Given the description of an element on the screen output the (x, y) to click on. 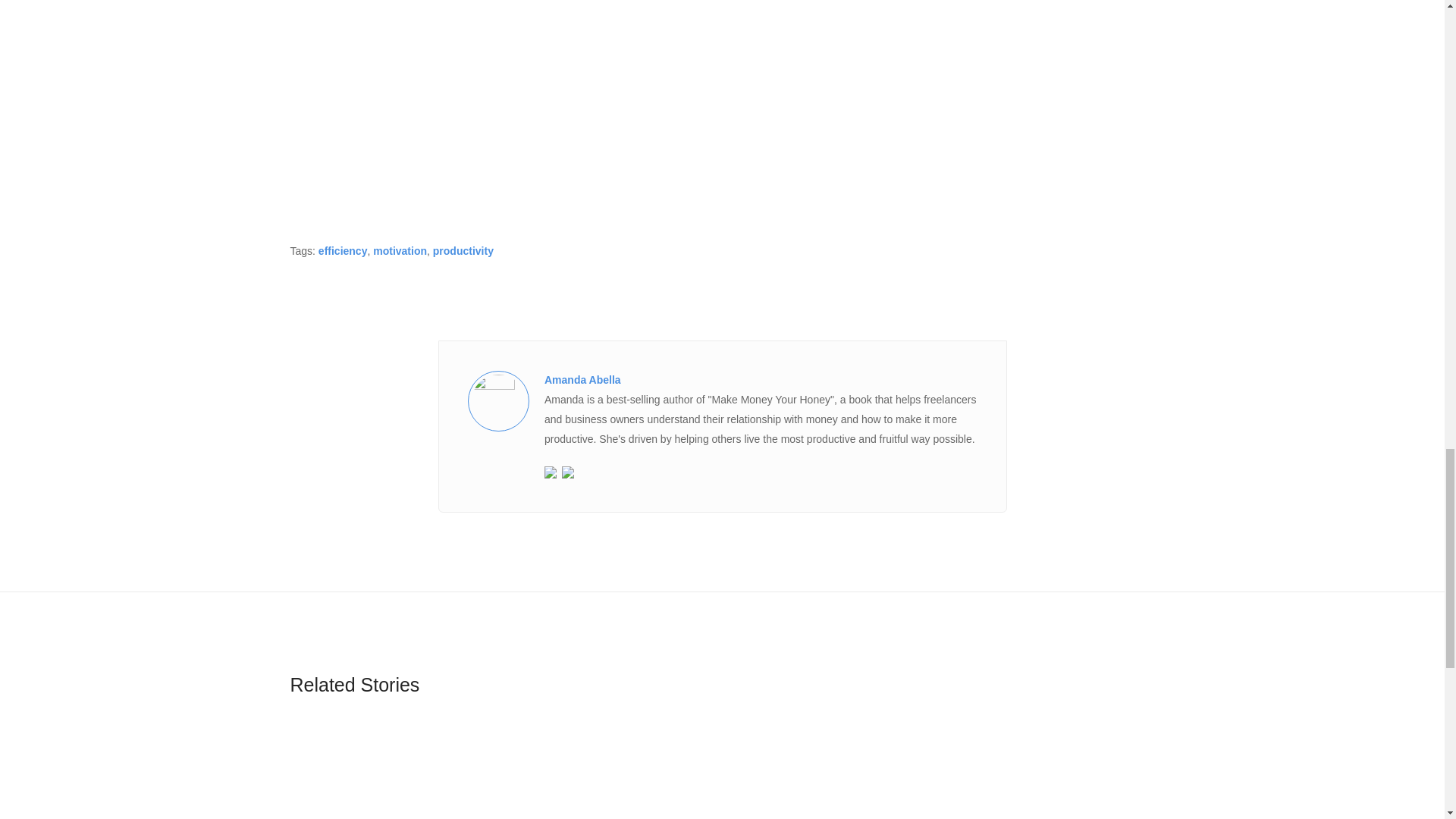
motivation (399, 250)
Posts by Amanda Abella (582, 379)
productivity (462, 250)
efficiency (343, 250)
